Given the description of an element on the screen output the (x, y) to click on. 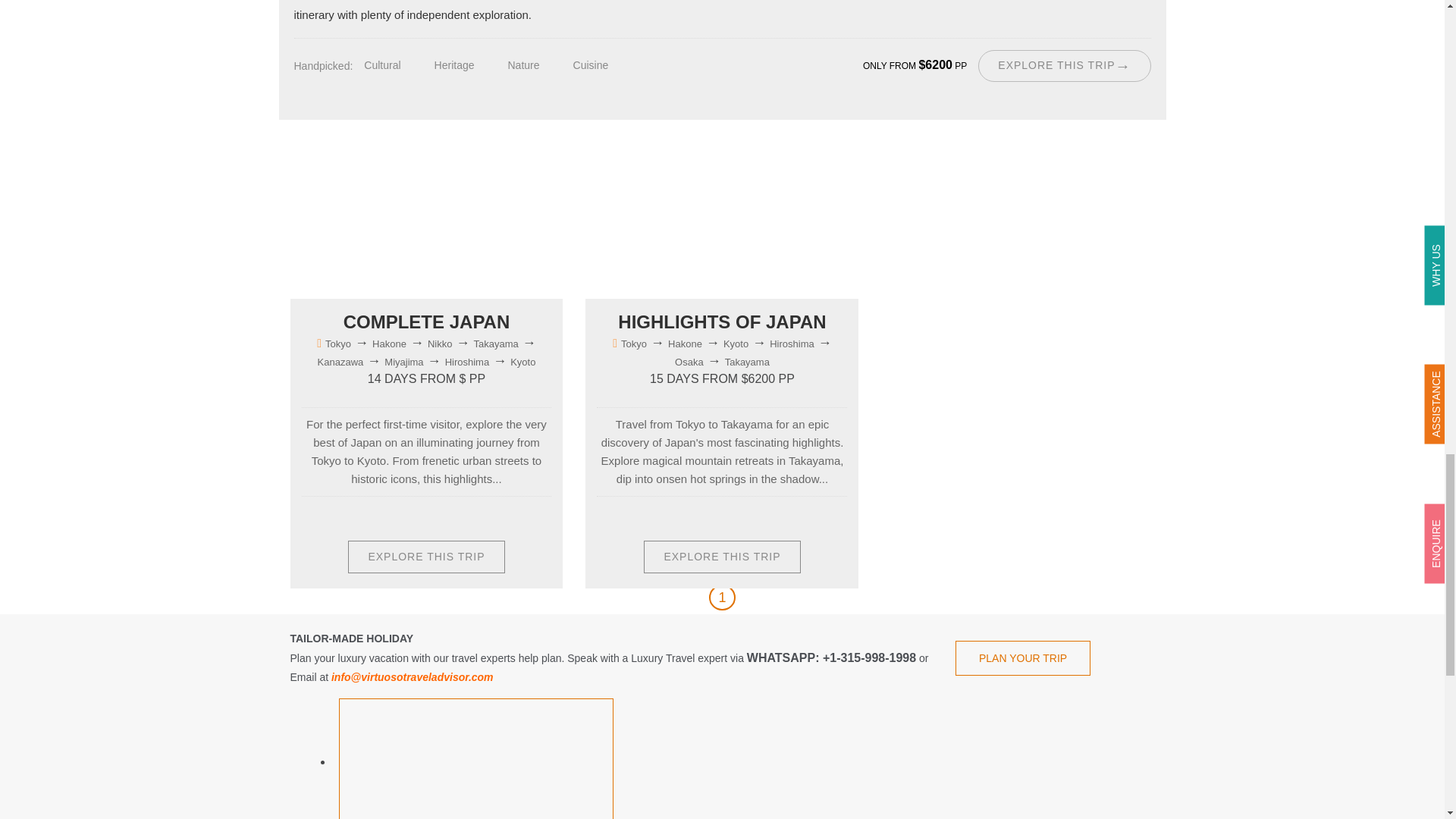
Nature (407, 517)
Complete Japan (427, 322)
Heritage (466, 66)
Cuisine (603, 66)
Cultural (395, 66)
Highlights of Japan (1064, 65)
Cuisine (441, 517)
History (474, 517)
Complete Japan (425, 556)
Complete Japan (402, 223)
Nature (537, 66)
Heritage (374, 517)
